Given the description of an element on the screen output the (x, y) to click on. 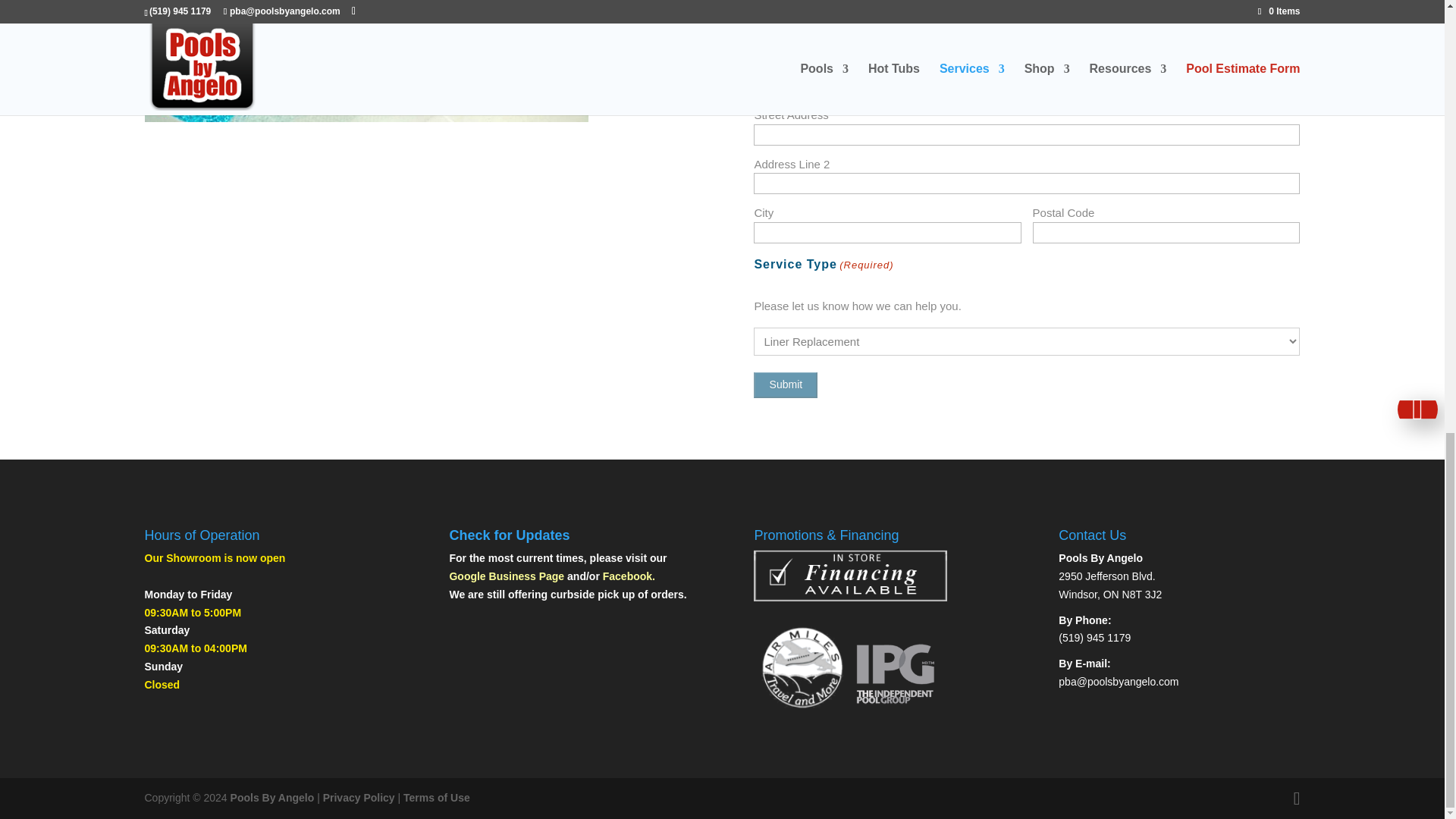
Submit (785, 385)
